Given the description of an element on the screen output the (x, y) to click on. 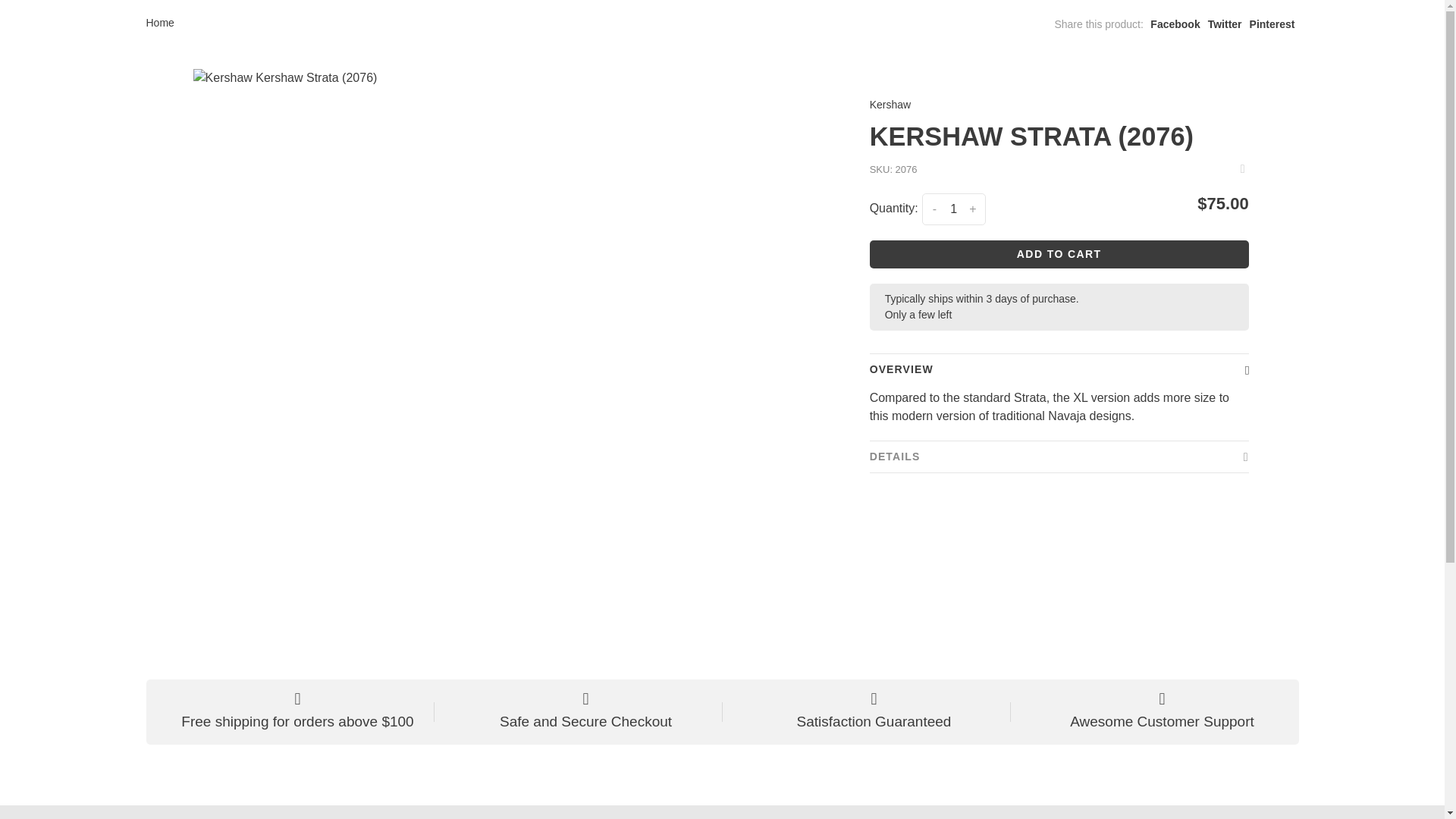
1 (953, 209)
